Given the description of an element on the screen output the (x, y) to click on. 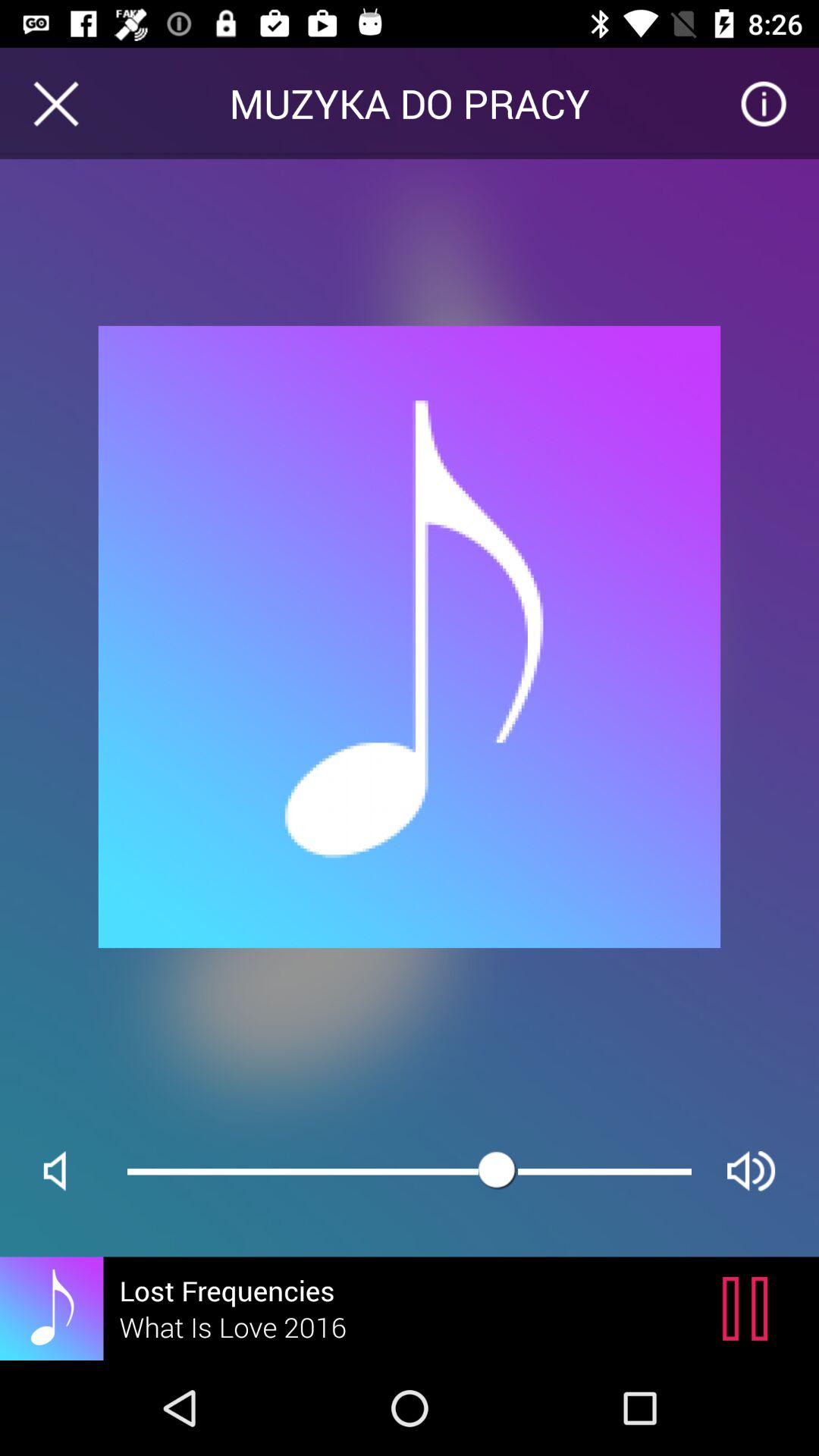
turn off icon next to muzyka do pracy item (763, 103)
